Given the description of an element on the screen output the (x, y) to click on. 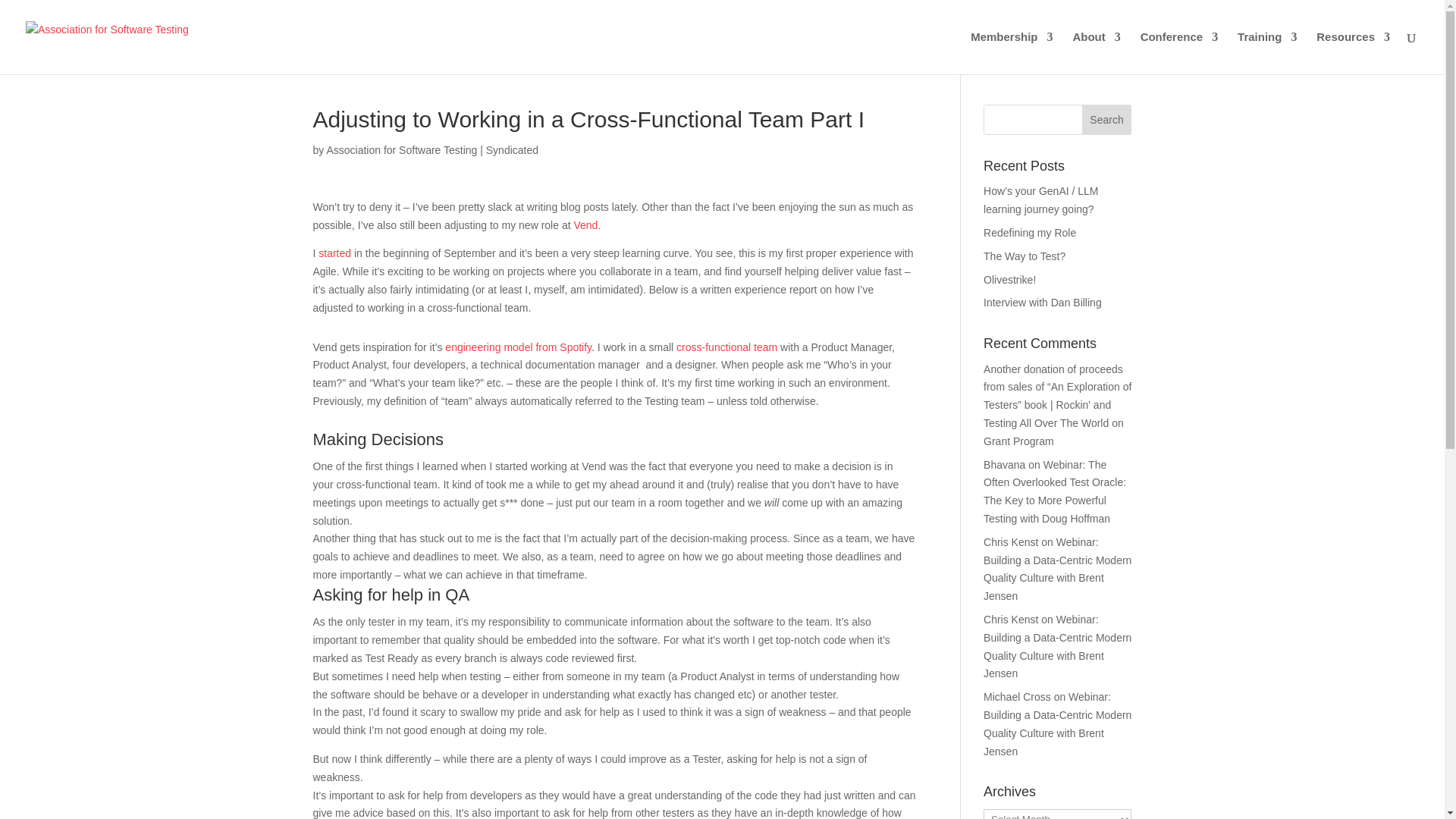
Posts by Association for Software Testing (401, 150)
Training (1267, 52)
Membership (1011, 52)
Search (1106, 119)
About (1095, 52)
Conference (1179, 52)
